Given the description of an element on the screen output the (x, y) to click on. 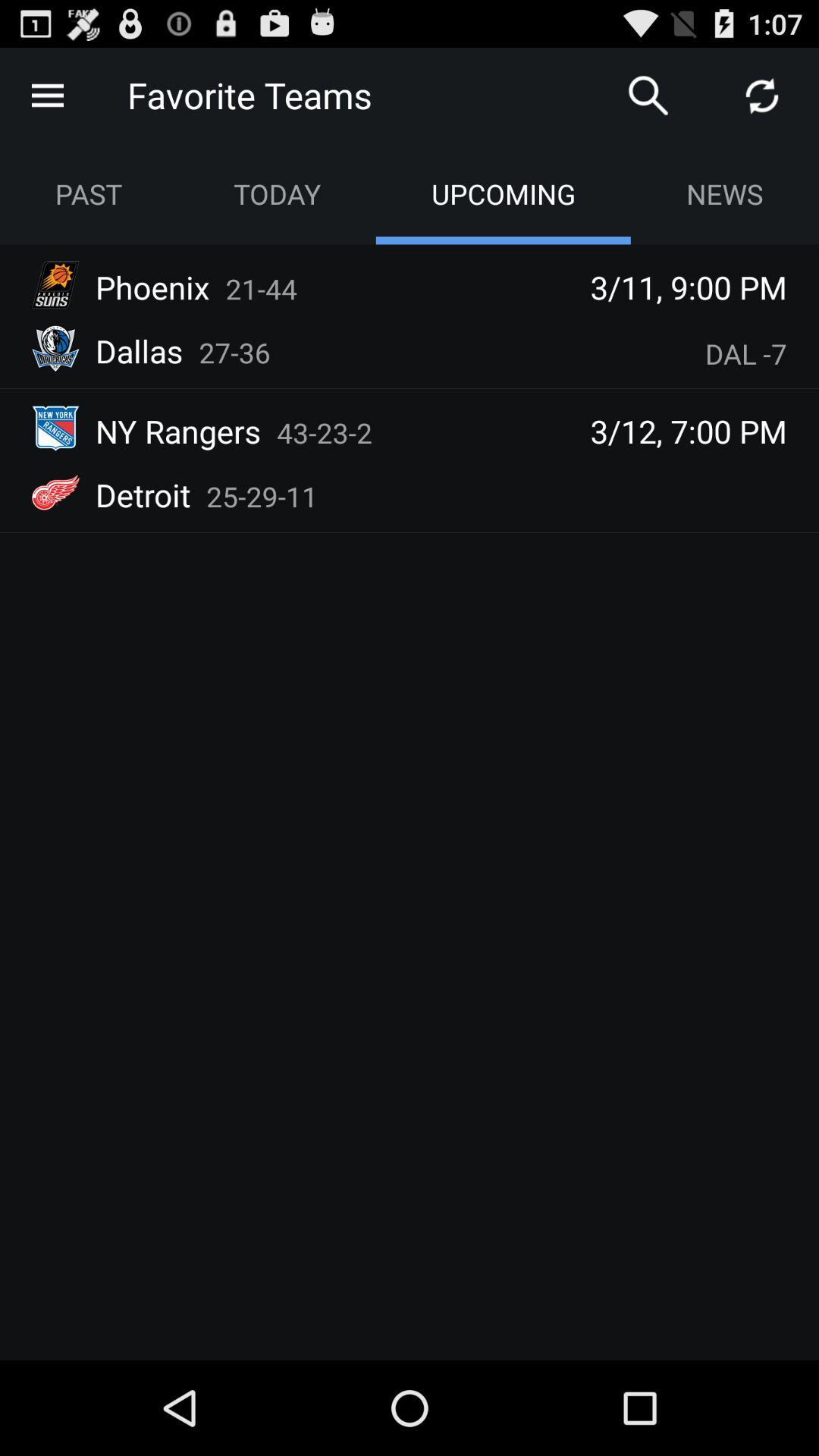
flip until the ny rangers item (178, 430)
